Given the description of an element on the screen output the (x, y) to click on. 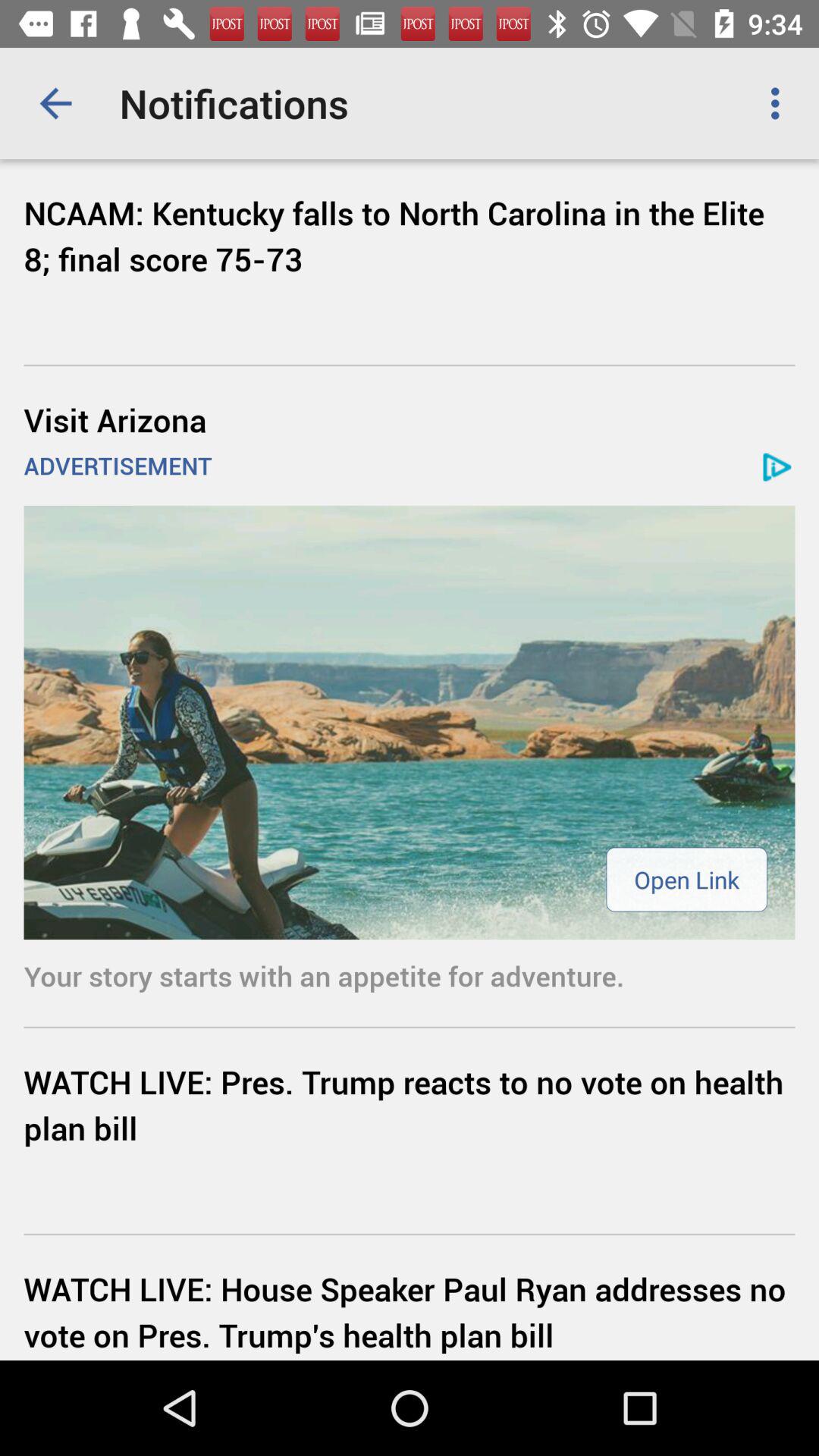
turn off item above ncaam kentucky falls icon (779, 103)
